Given the description of an element on the screen output the (x, y) to click on. 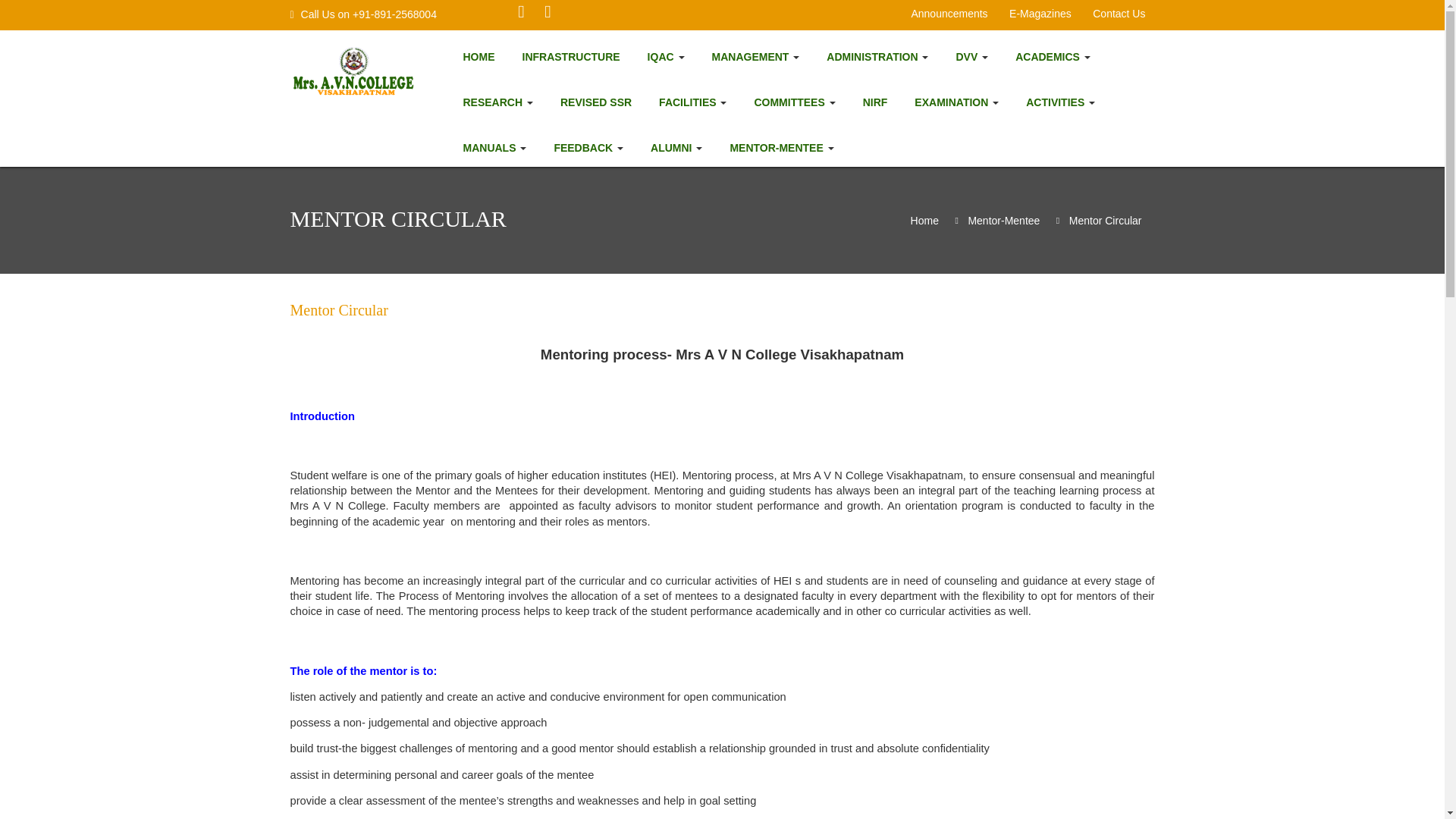
Announcements (948, 12)
Contact Us (1118, 12)
INFRASTRUCTURE (570, 56)
IQAC (665, 56)
E-Magazines (1040, 12)
MANAGEMENT (754, 56)
HOME (478, 56)
